Given the description of an element on the screen output the (x, y) to click on. 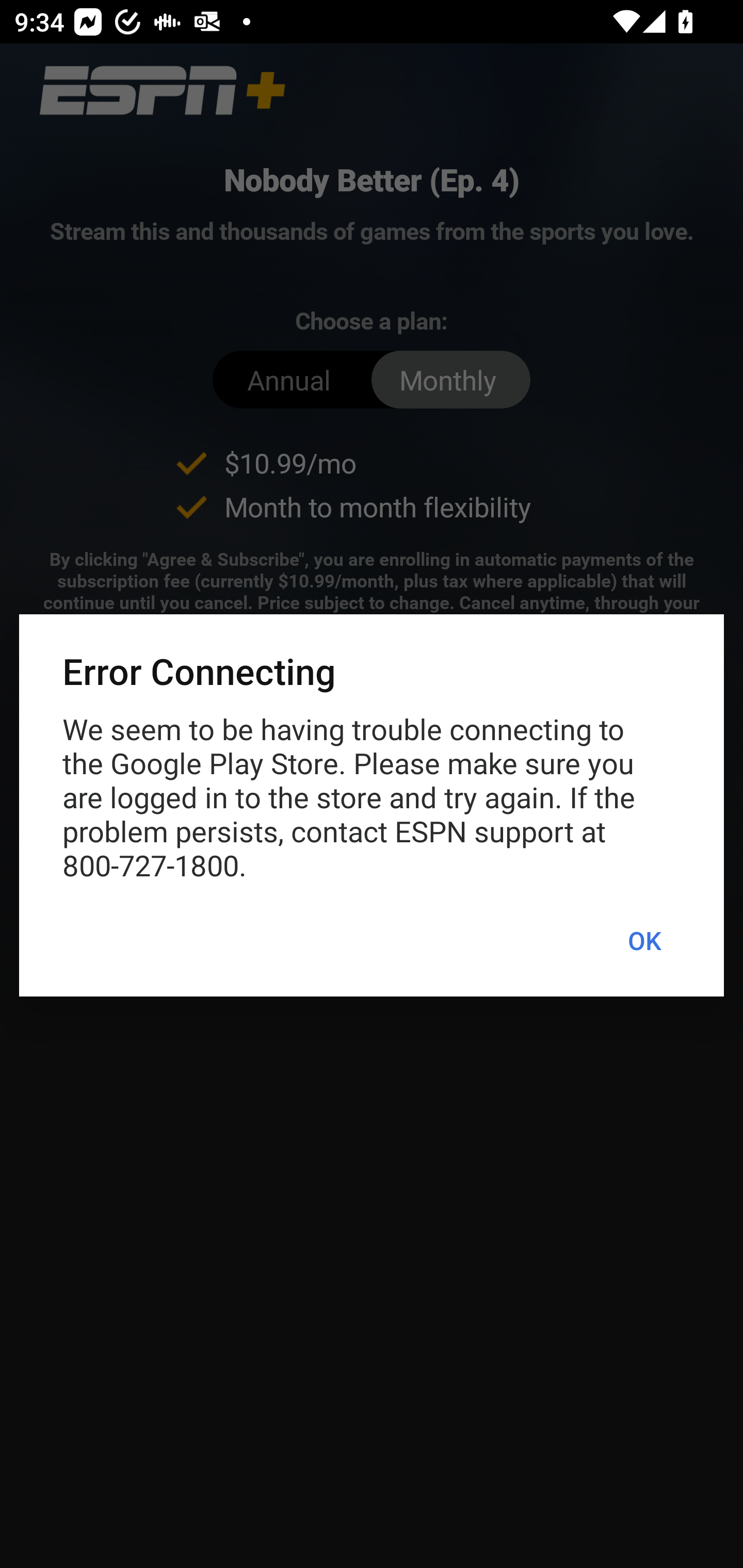
OK (644, 940)
